Given the description of an element on the screen output the (x, y) to click on. 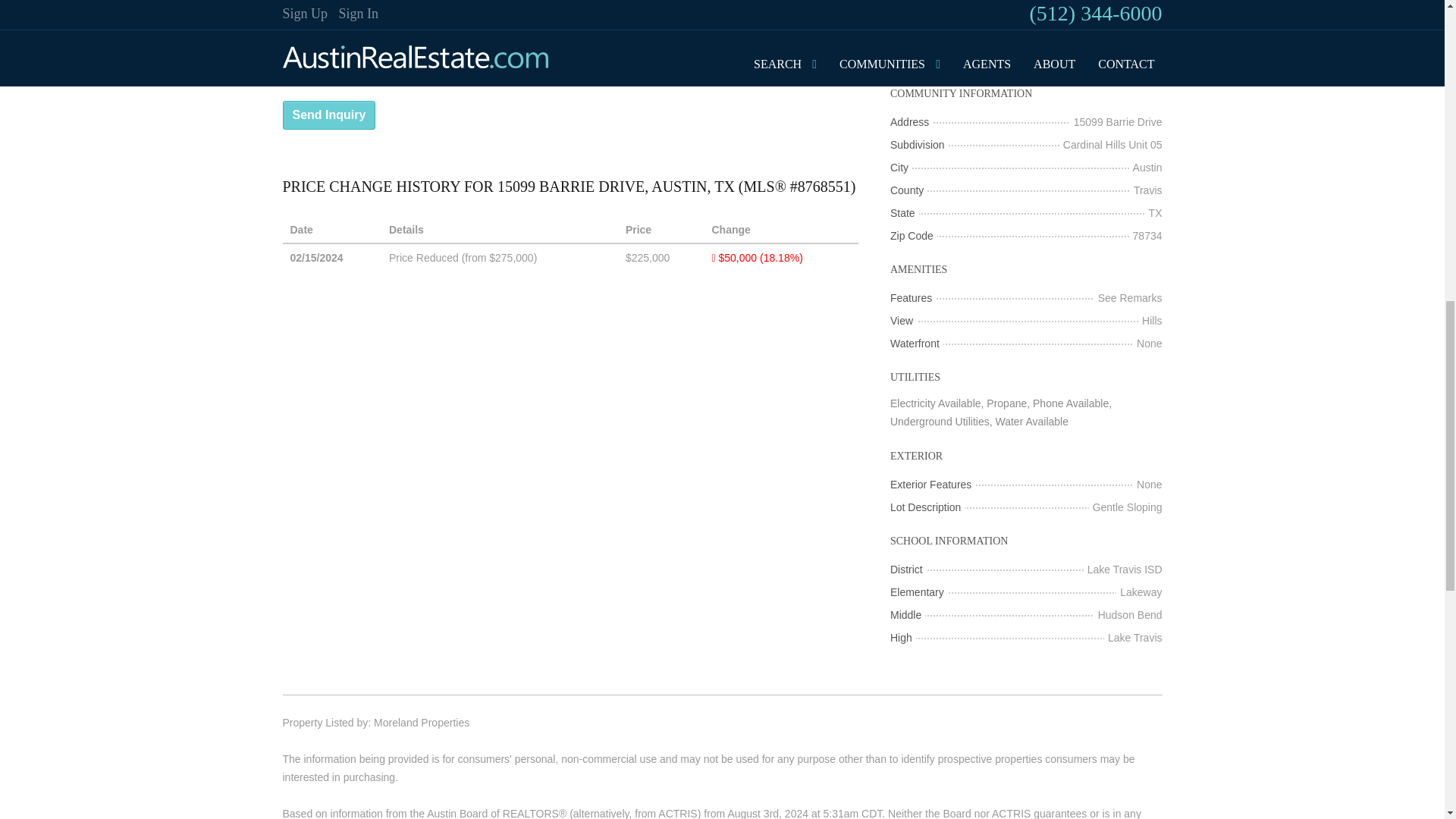
Thu. Feb. 15th, 2024 (315, 257)
